Given the description of an element on the screen output the (x, y) to click on. 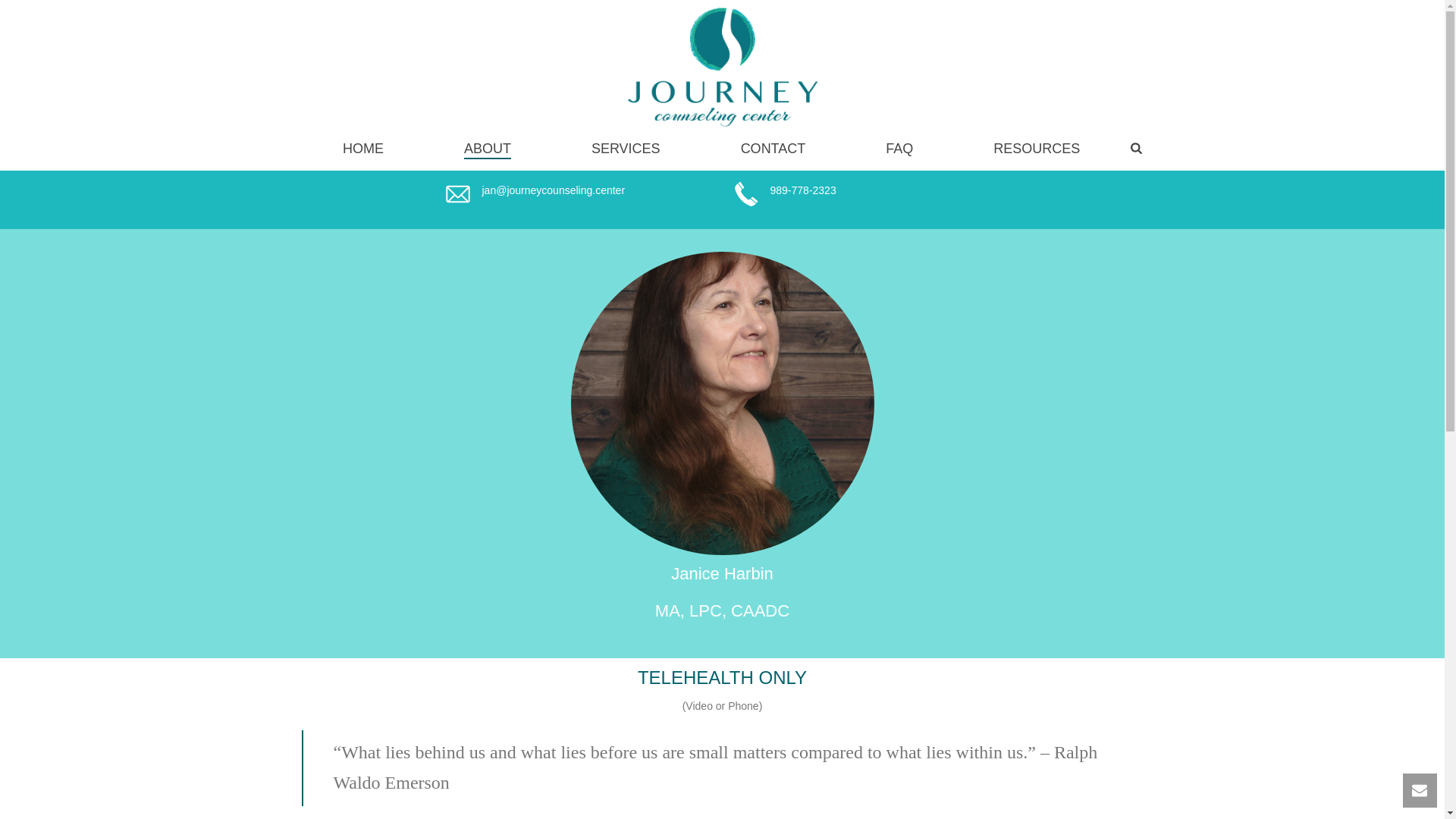
SERVICES Element type: text (625, 149)
Journey Counseling Element type: hover (722, 64)
FAQ Element type: text (899, 149)
jan@journeycounseling.center Element type: text (553, 190)
CONTACT Element type: text (773, 149)
HOME Element type: text (362, 149)
RESOURCES Element type: text (1036, 149)
989-778-2323 Element type: text (803, 190)
ABOUT Element type: text (487, 149)
